Given the description of an element on the screen output the (x, y) to click on. 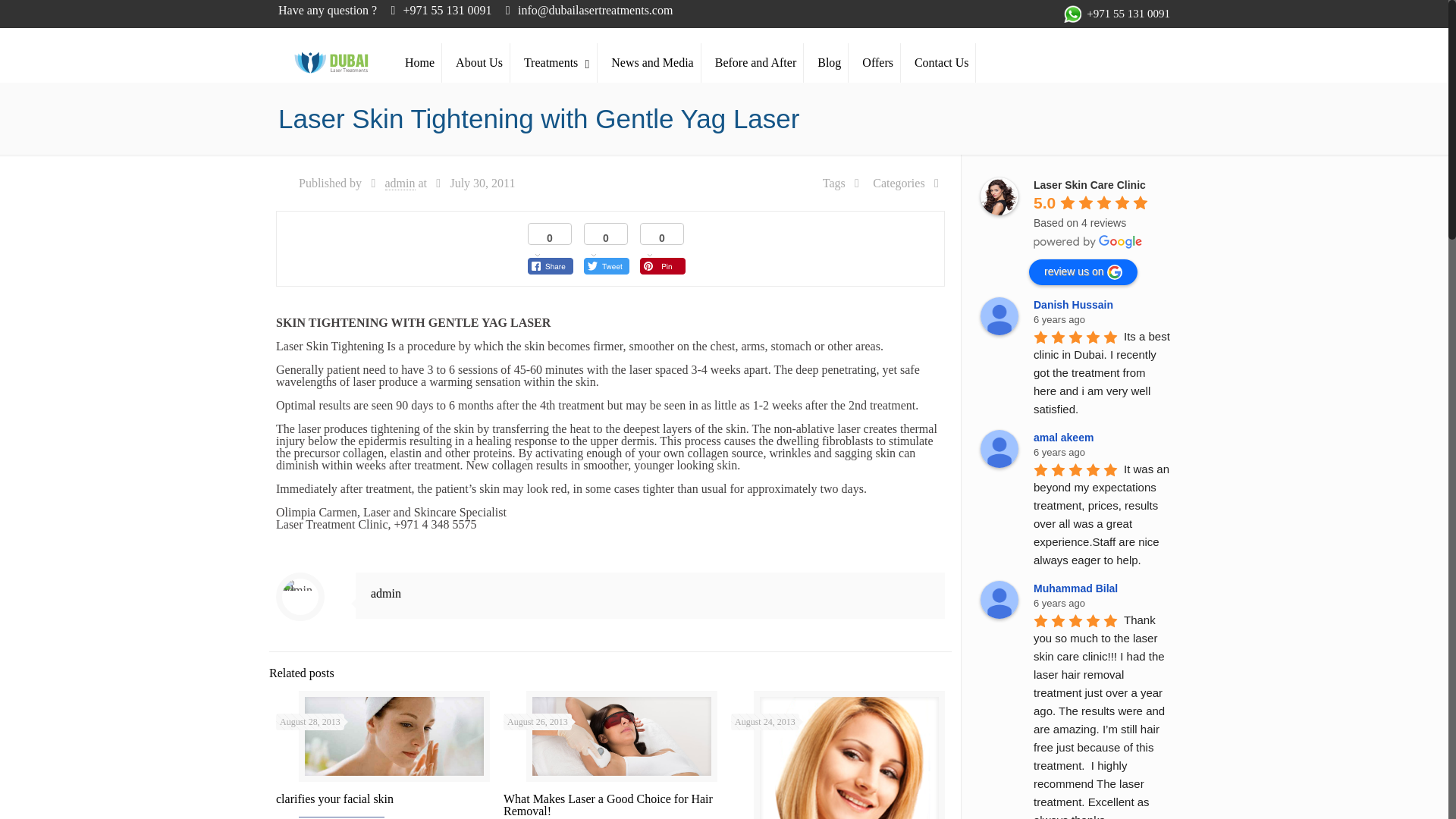
Skin Treatments Dubai (331, 50)
Laser Skin Care Clinic (998, 196)
Muhammad Bilal (998, 599)
Danish Hussain (998, 315)
amal akeem (998, 448)
powered by Google (1087, 241)
